Given the description of an element on the screen output the (x, y) to click on. 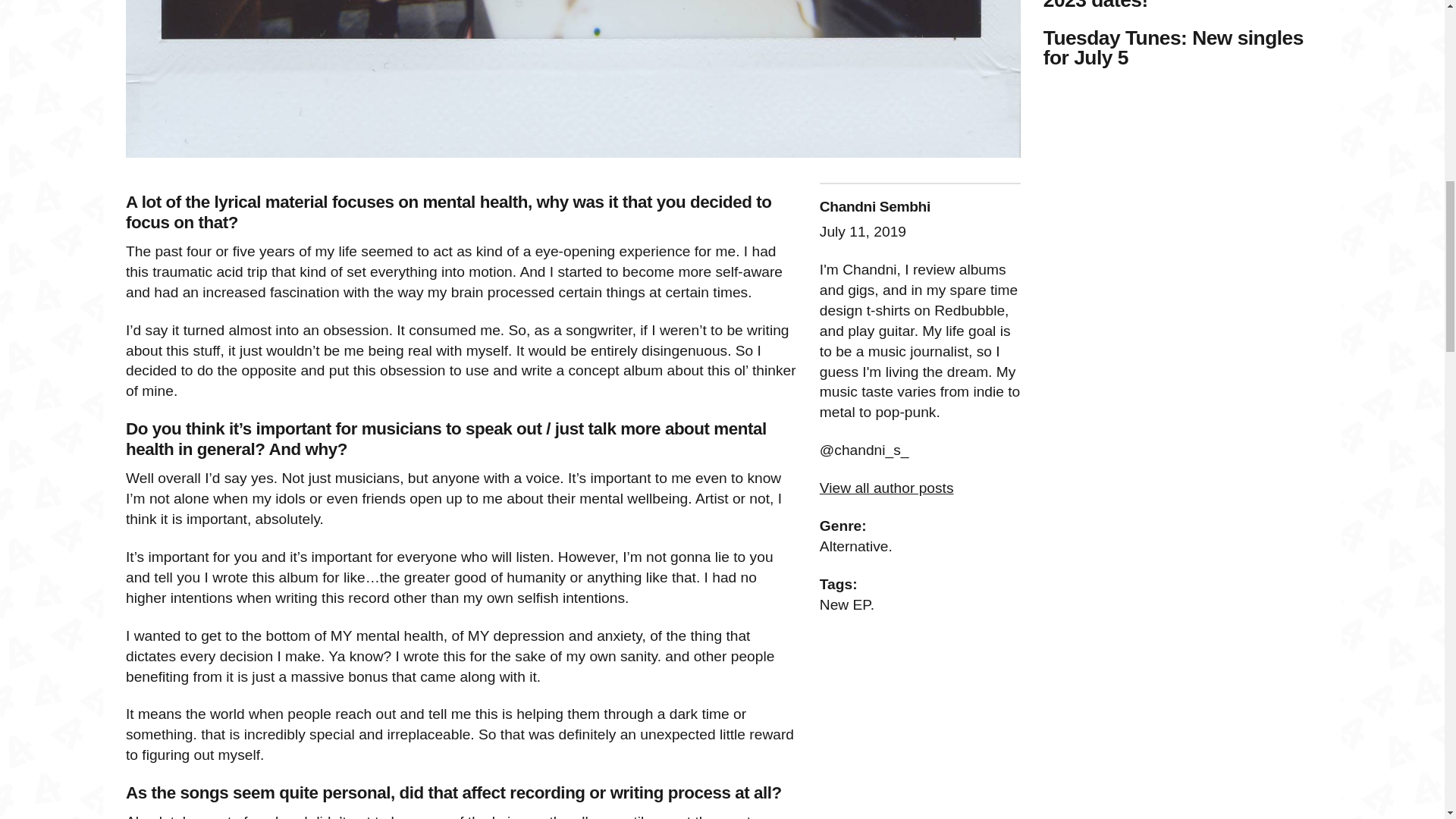
Search (94, 4)
View all author posts (886, 487)
Alternative (853, 546)
View all author posts (886, 487)
New EP (844, 604)
